Given the description of an element on the screen output the (x, y) to click on. 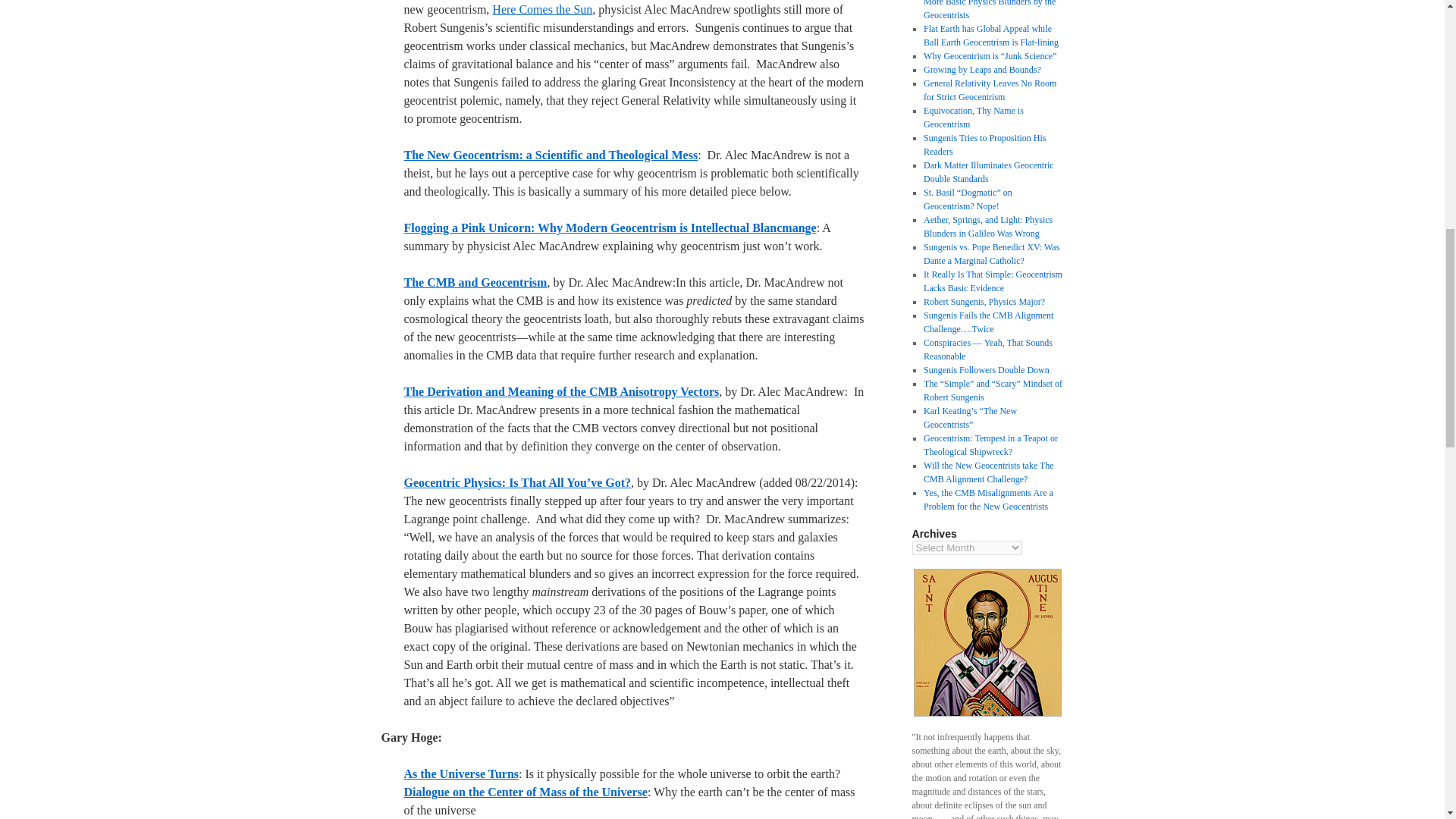
The New Geocentrism: a Scientific and Theological Mess (550, 154)
The CMB and Geocentrism (475, 282)
Dialogue on the Center of Mass of the Universe (524, 791)
As the Universe Turns (460, 773)
The CMB and Geocentrism (475, 282)
The Derivation and Meaning of the CMB Anisotropy Vectors (561, 391)
Here Comes the Sun (542, 9)
Physicist Alec MacAndrew Debunks the New Geocentrists (609, 227)
Here Comes the Sun (542, 9)
As the Universe Turns (460, 773)
The Derivation and Meaning of the CMB Anisotropy Vectors (561, 391)
Physicist Alec MacAndrew Debunks the New Geocentrists (550, 154)
